Given the description of an element on the screen output the (x, y) to click on. 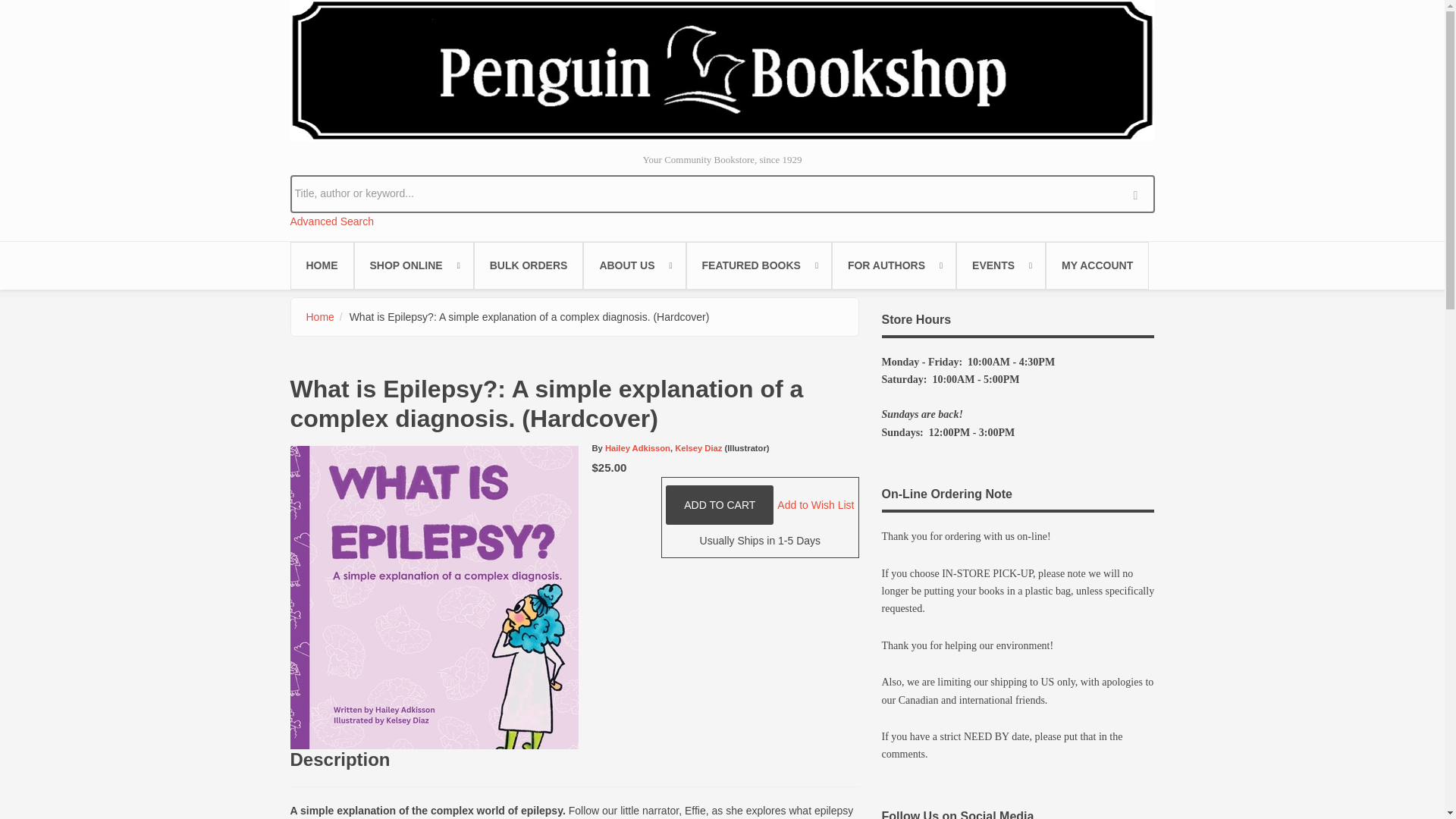
Title, author or keyword... (721, 193)
Home (721, 69)
Home (319, 316)
HOME (321, 265)
Add to Wish List (815, 504)
FOR AUTHORS (893, 265)
Advanced Search (331, 221)
ABOUT US (634, 265)
EVENTS (1000, 265)
